Given the description of an element on the screen output the (x, y) to click on. 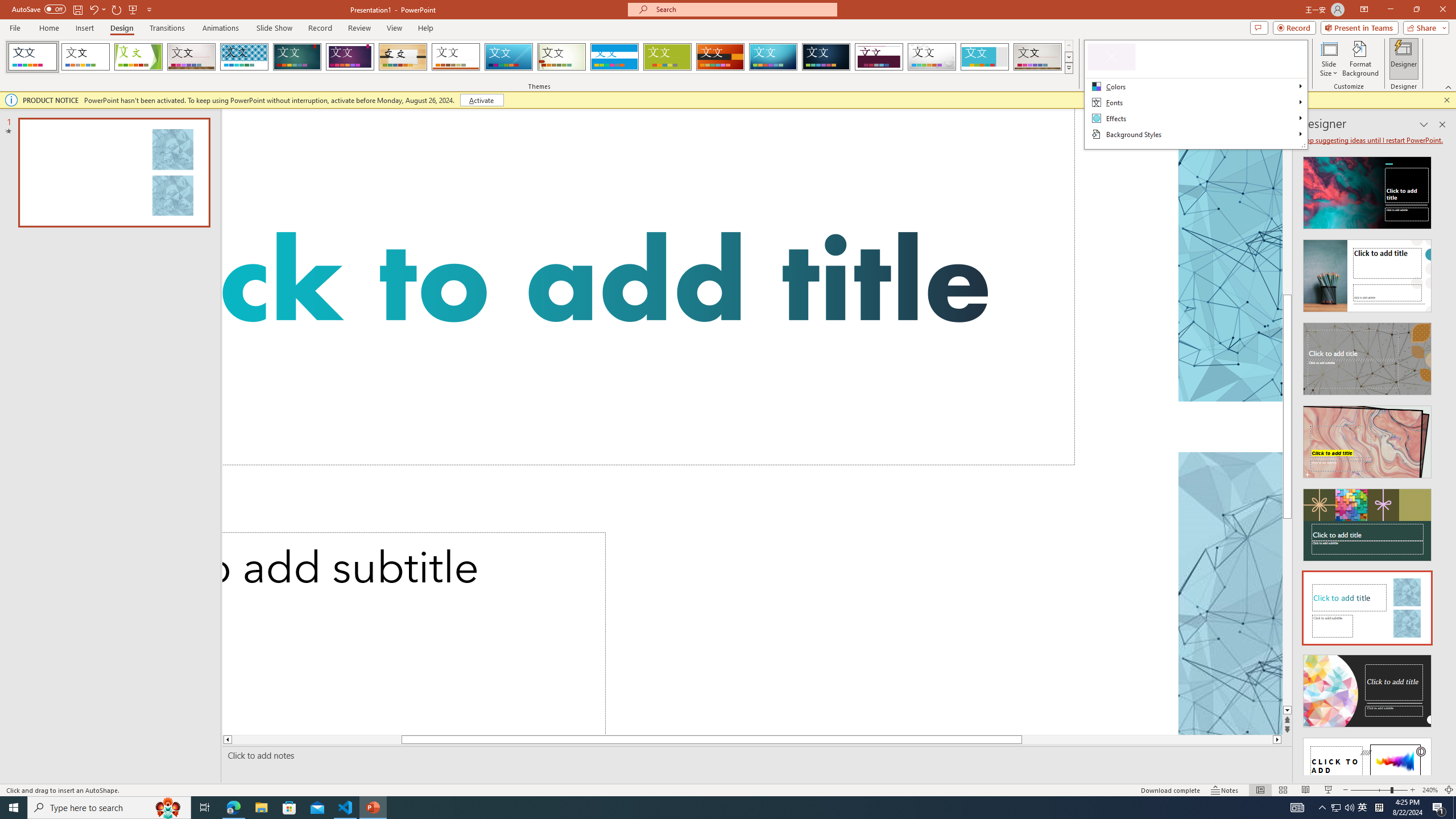
Dividend (879, 56)
Slice (508, 56)
Integral (244, 56)
Frame (984, 56)
